Given the description of an element on the screen output the (x, y) to click on. 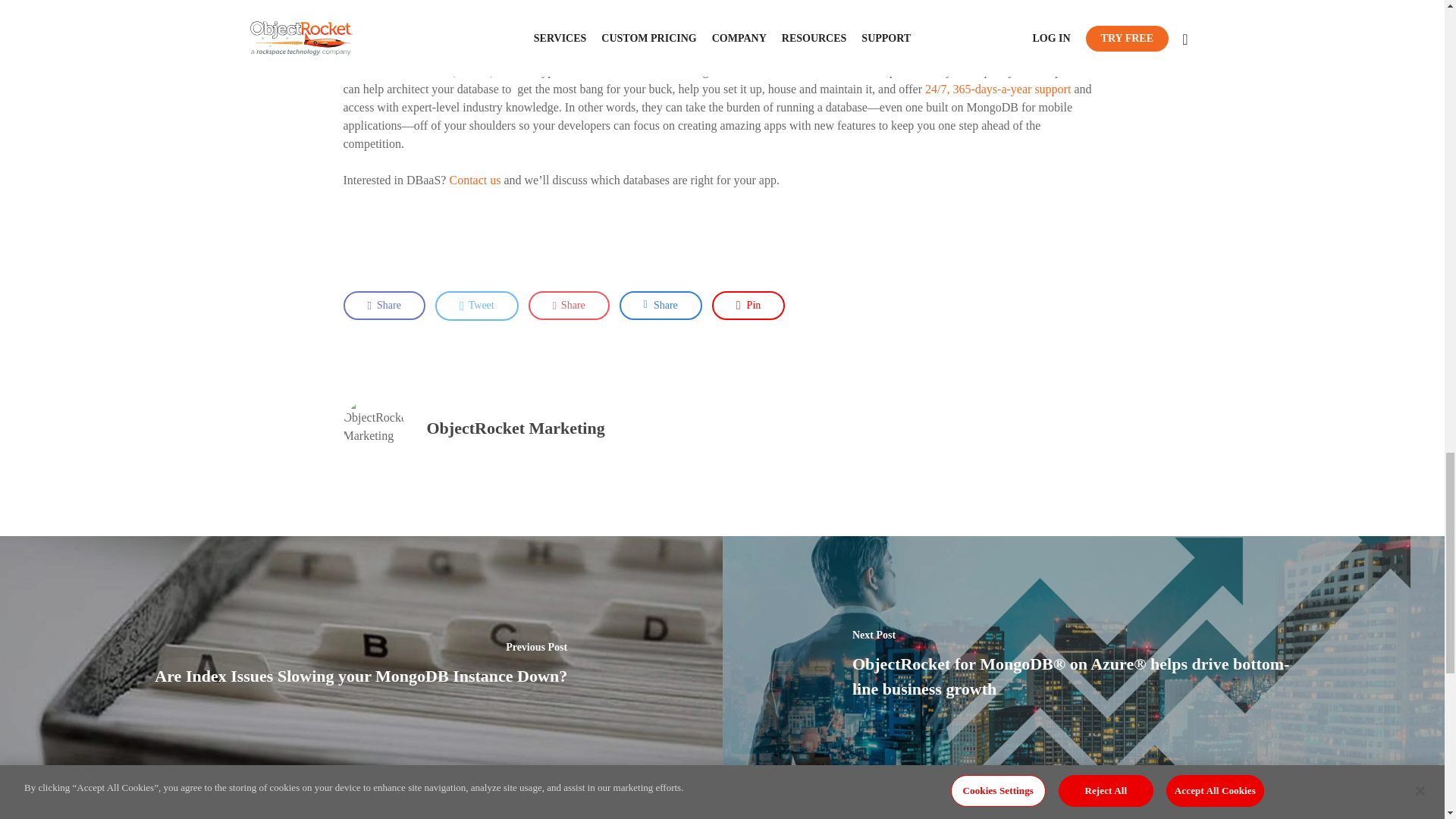
Tweet this (476, 306)
Pin this (748, 305)
Share this (383, 305)
Share this (660, 305)
Share this (569, 305)
